Given the description of an element on the screen output the (x, y) to click on. 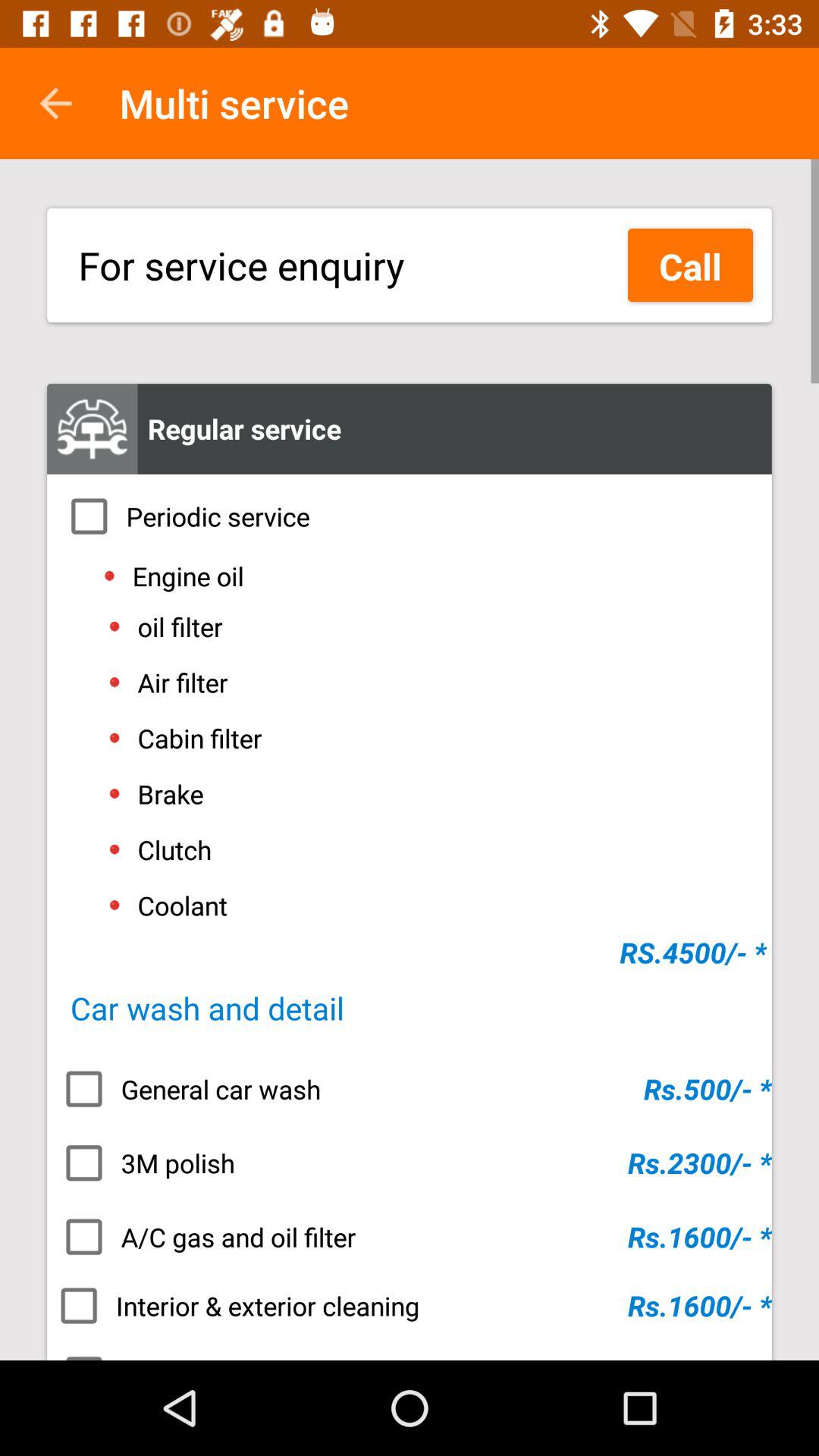
swipe to 3m polish icon (409, 1162)
